Given the description of an element on the screen output the (x, y) to click on. 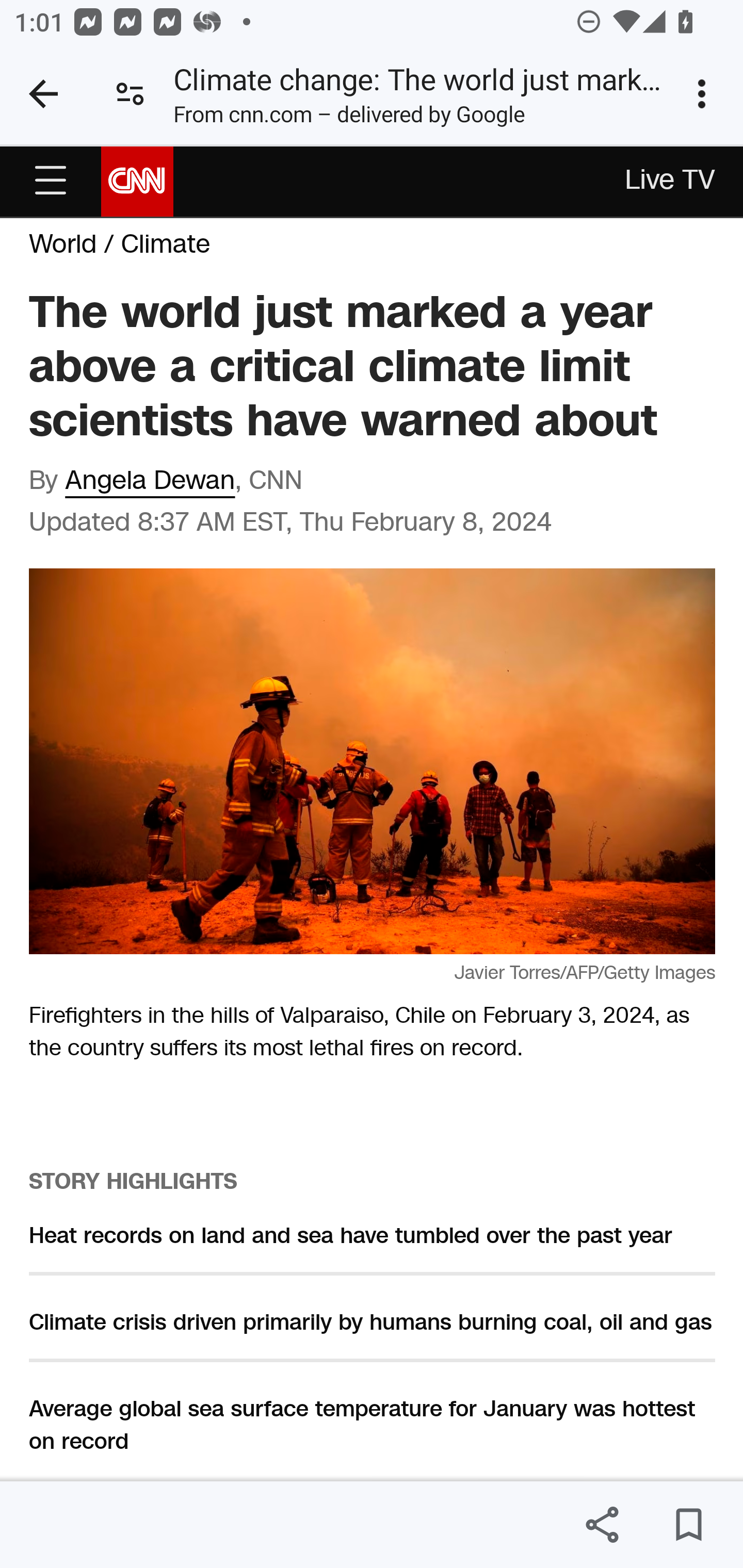
Close tab (43, 93)
Customize and control Google Chrome (705, 93)
Connection is secure (129, 93)
From cnn.com – delivered by Google (349, 117)
CNN logo (137, 180)
global-warming-limit-climate-intl?amp_js_v=0 (50, 180)
Live TV (670, 181)
World (62, 245)
Climate (164, 245)
Angela Dewan (150, 482)
Share (601, 1524)
Save for later (688, 1524)
